Given the description of an element on the screen output the (x, y) to click on. 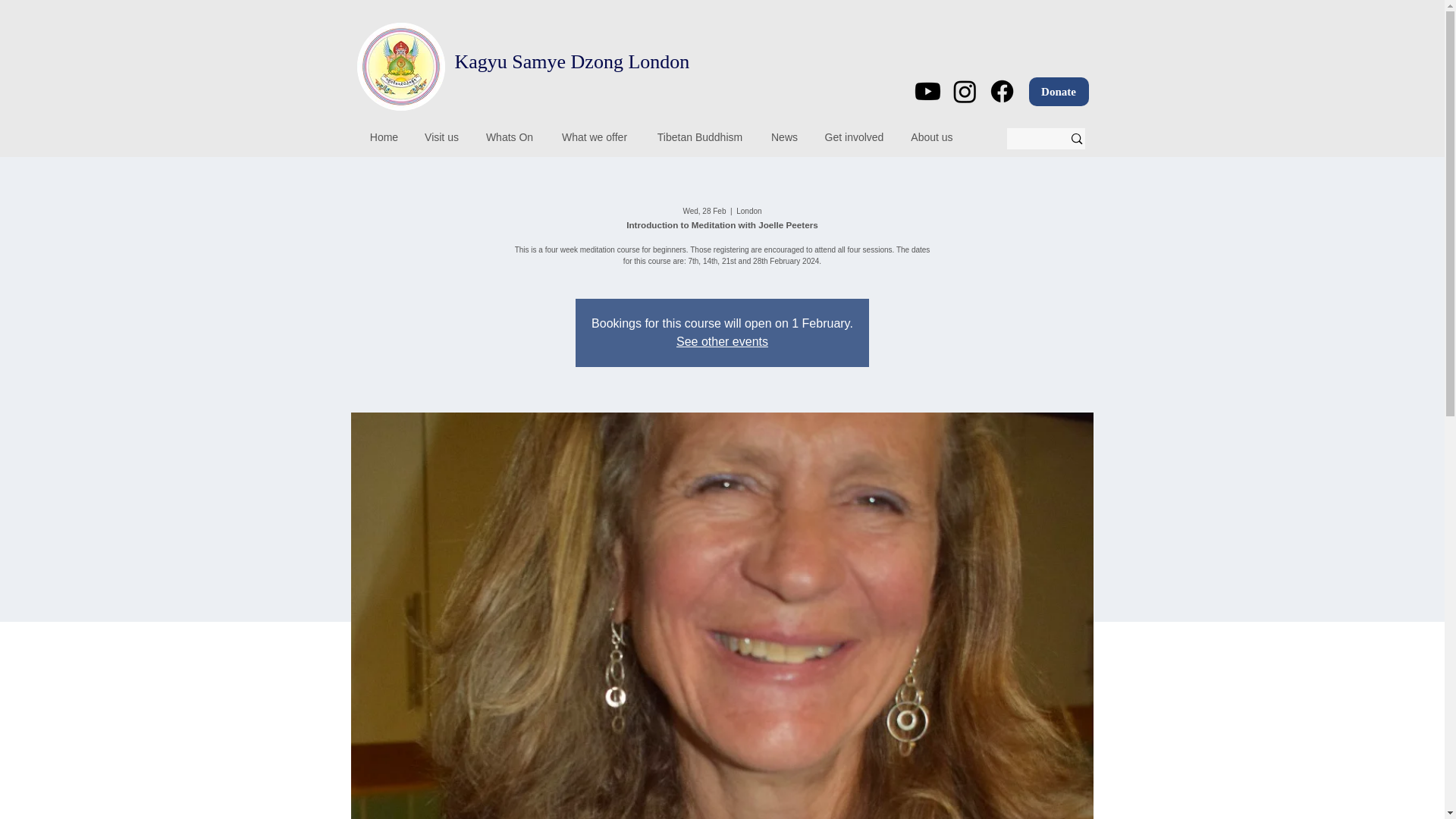
Visit us (440, 137)
What we offer (594, 137)
Donate (1057, 91)
Kagyu Samye Dzong London (572, 61)
Whats On (509, 137)
News (784, 137)
Tibetan Buddhism (699, 137)
Get involved (854, 137)
About us (932, 137)
Home (383, 137)
